Given the description of an element on the screen output the (x, y) to click on. 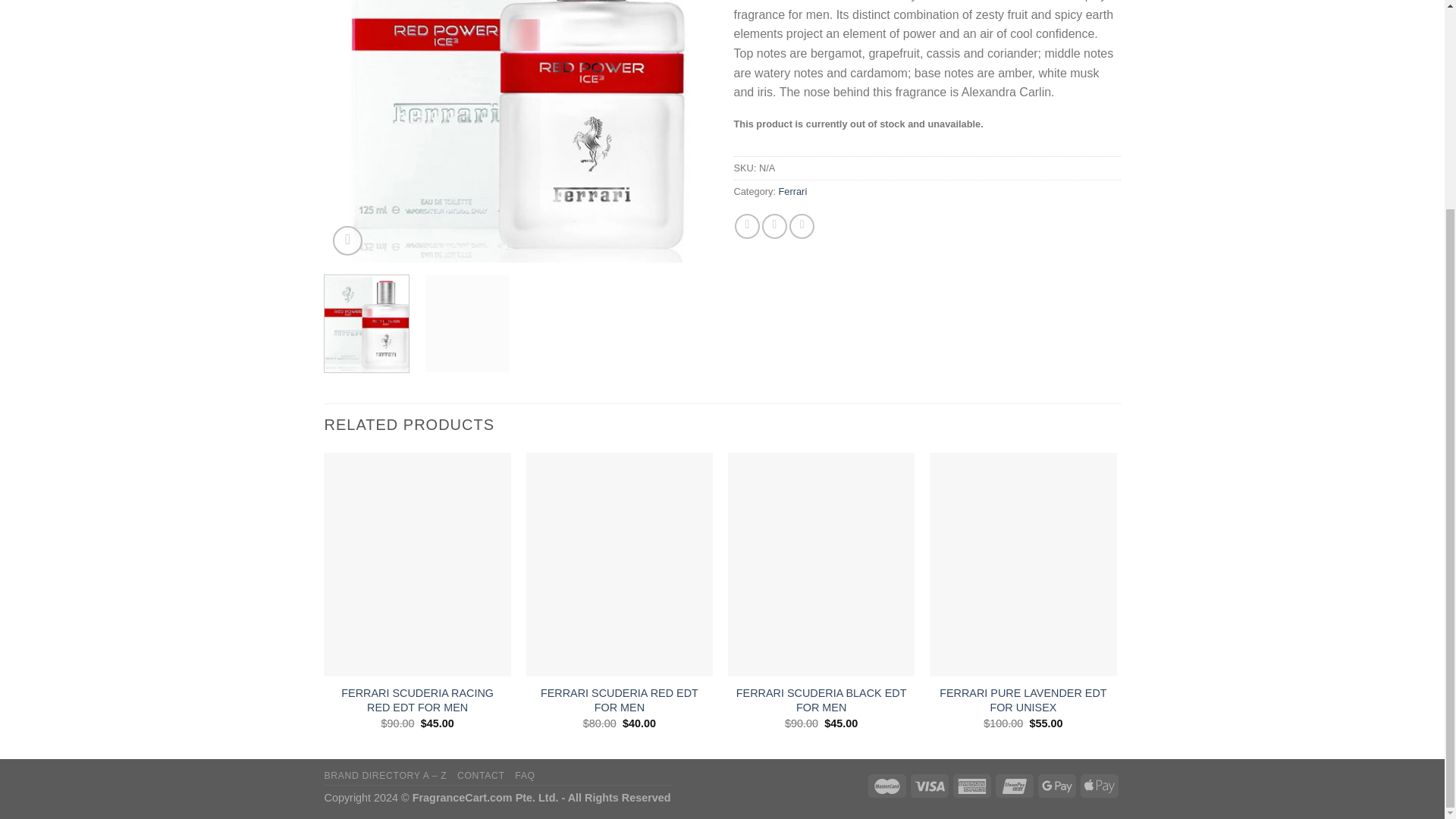
Zoom (347, 240)
Ferrari (793, 191)
Share on Twitter (774, 226)
Share on Telegram (801, 226)
Share on Facebook (747, 226)
